Given the description of an element on the screen output the (x, y) to click on. 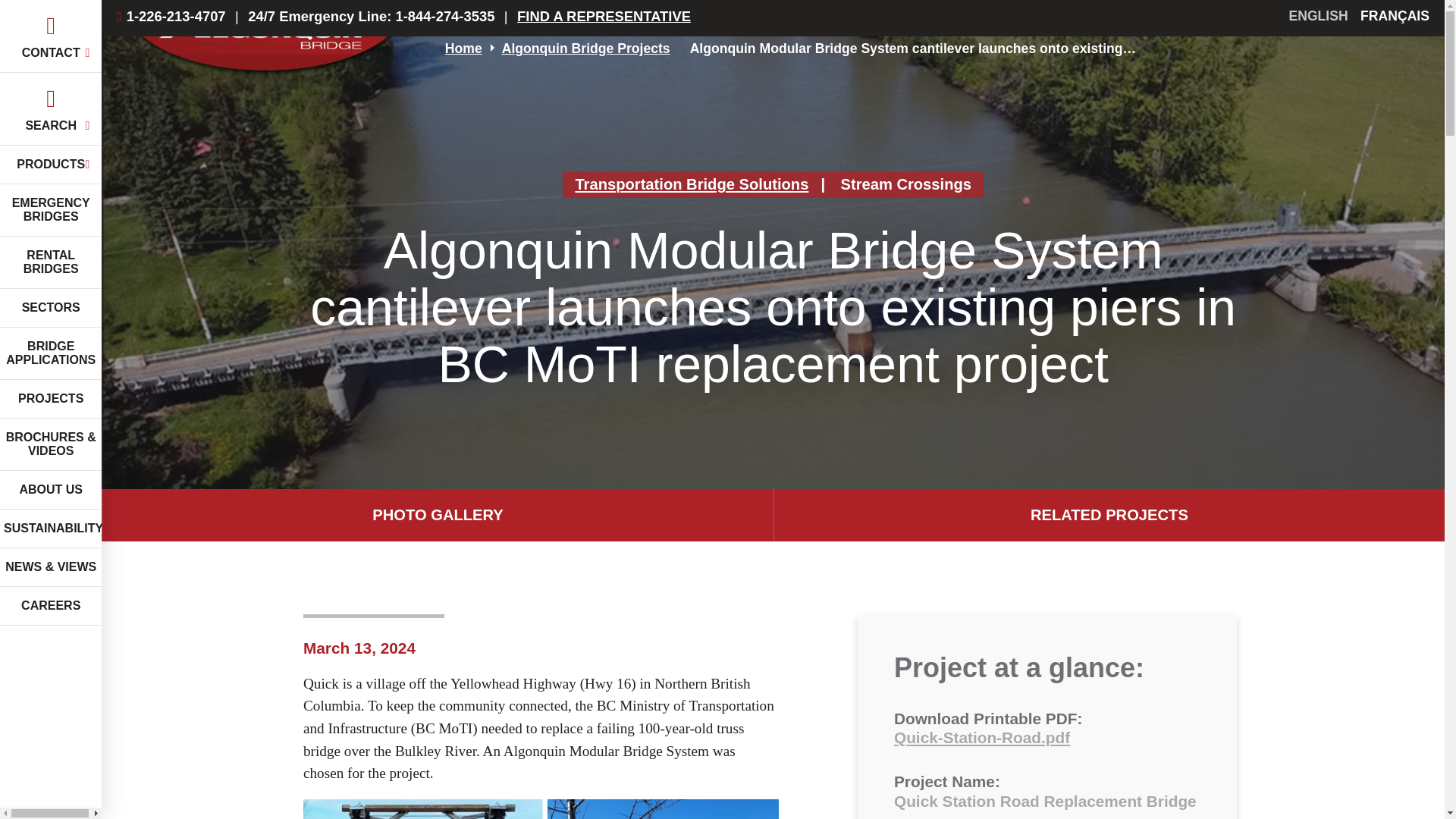
EMERGENCY BRIDGES (50, 210)
SUSTAINABILITY (50, 528)
CAREERS (50, 606)
CONTACT (50, 36)
Go to Home. (463, 48)
PROJECTS (50, 399)
ABOUT US (50, 489)
BRIDGE APPLICATIONS (50, 353)
return home (264, 49)
RENTAL BRIDGES (50, 262)
SECTORS (50, 308)
Go to Algonquin Bridge Projects. (585, 48)
SEARCH (50, 108)
PRODUCTS (50, 164)
